Given the description of an element on the screen output the (x, y) to click on. 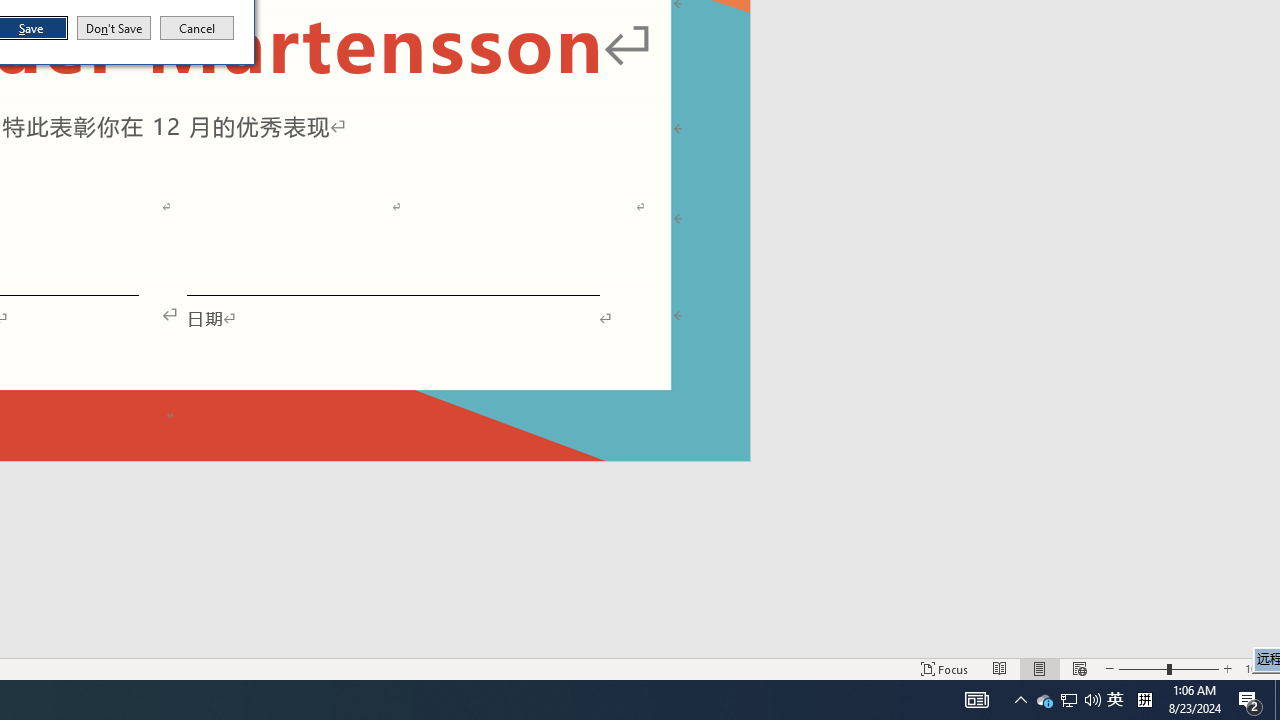
Zoom 104% (1258, 668)
Tray Input Indicator - Chinese (Simplified, China) (1115, 699)
User Promoted Notification Area (1144, 699)
AutomationID: 4105 (1068, 699)
Zoom (976, 699)
Cancel (1168, 668)
Notification Chevron (197, 27)
